Given the description of an element on the screen output the (x, y) to click on. 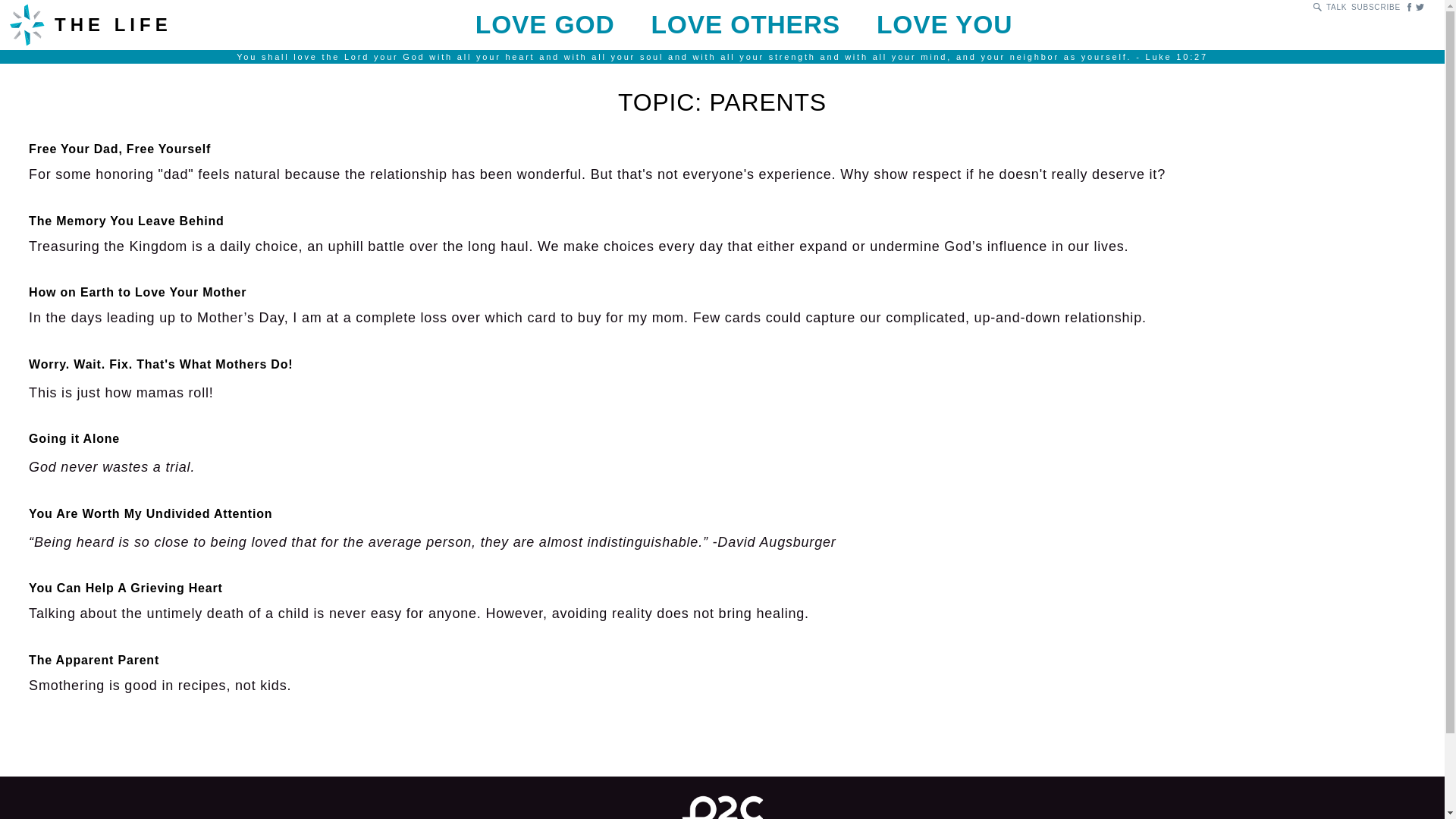
THE LIFE (184, 24)
LOVE GOD (722, 675)
SUBSCRIBE (545, 24)
LOVE OTHERS (722, 455)
TALK (1375, 7)
LOVE YOU (745, 24)
